Given the description of an element on the screen output the (x, y) to click on. 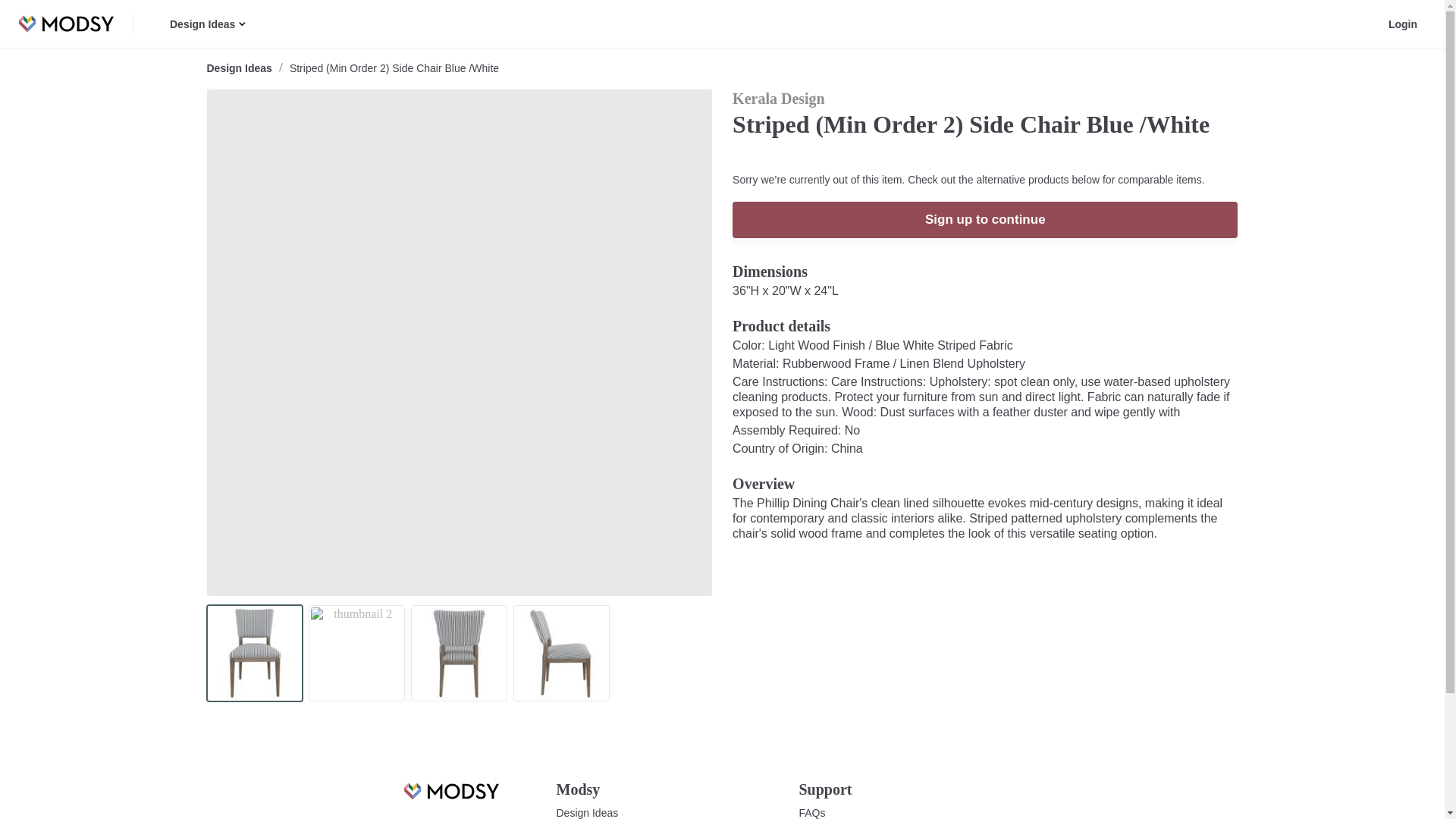
Design Ideas (204, 23)
Login (1402, 23)
Go to modsy homepageLogo to redirect to modsy homepage (451, 791)
Go to modsy homepageLogo to redirect to modsy homepage (451, 798)
Design Ideas (238, 68)
Design Ideas (587, 812)
FAQs (812, 812)
Sign up to continue (984, 219)
